Given the description of an element on the screen output the (x, y) to click on. 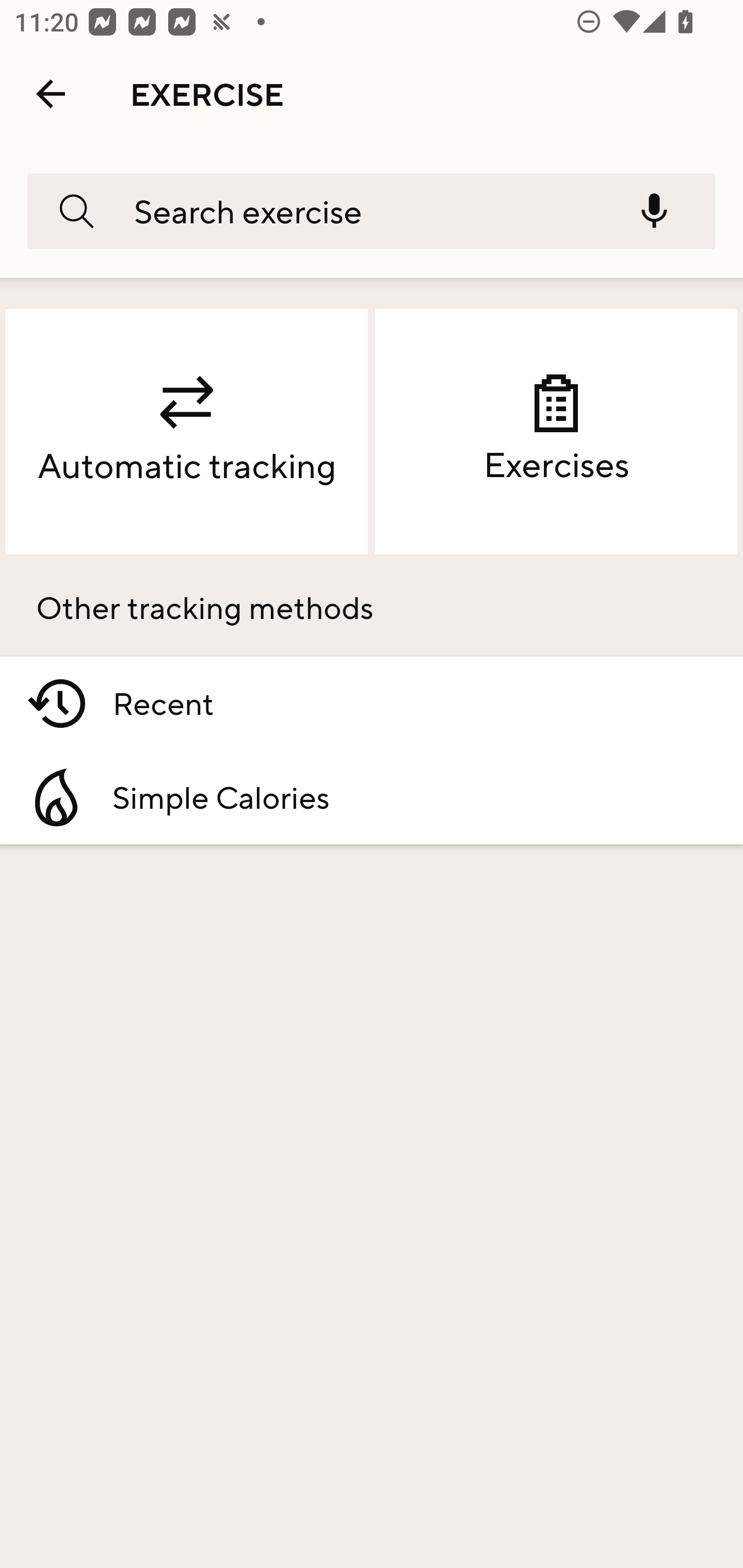
Navigate up (50, 93)
Search exercise (358, 210)
Automatic tracking (186, 431)
Exercises (556, 431)
Recent (371, 703)
Simple Calories (371, 797)
